Given the description of an element on the screen output the (x, y) to click on. 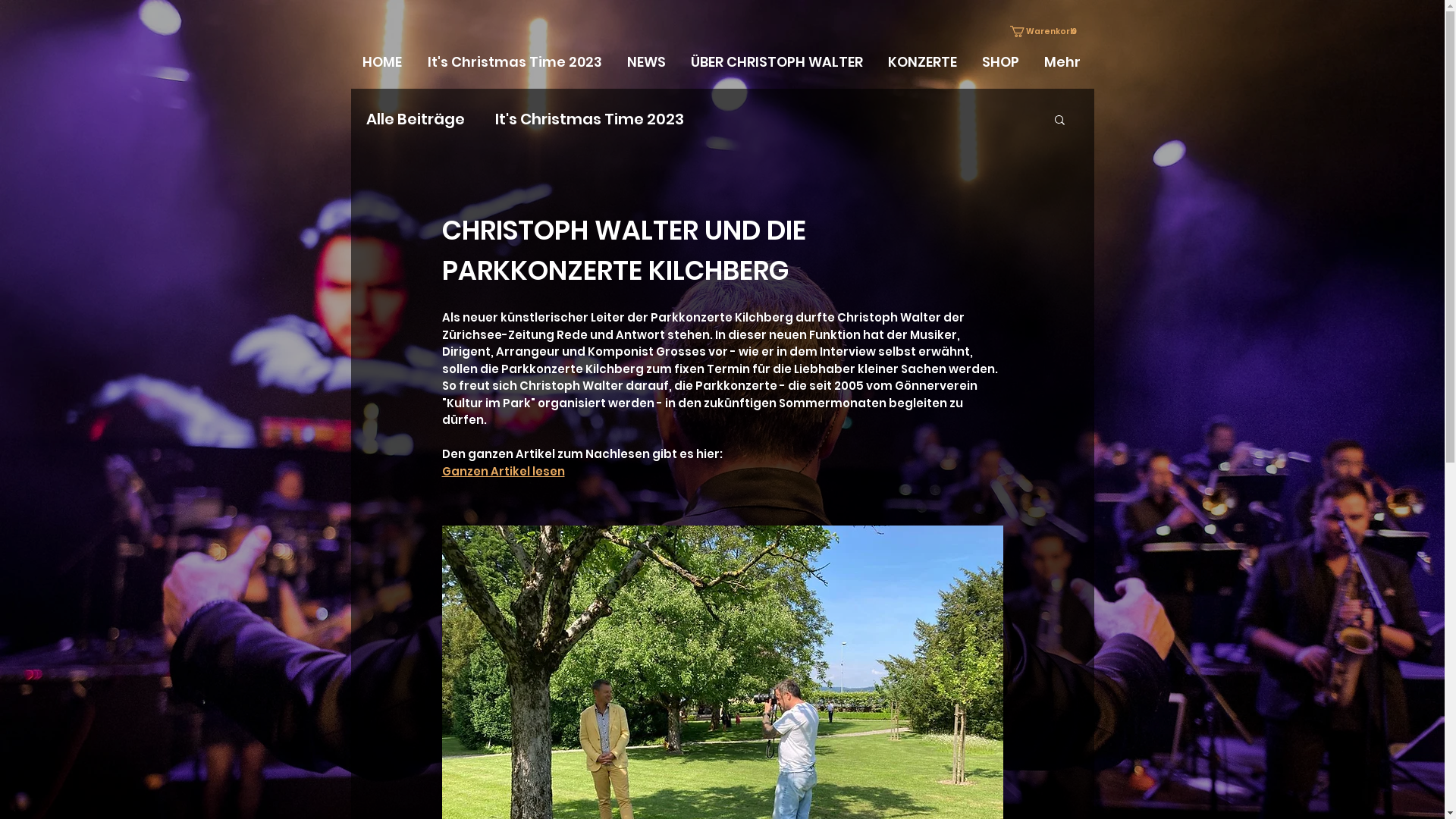
It's Christmas Time 2023 Element type: text (515, 62)
Ganzen Artikel lesen Element type: text (502, 470)
NEWS Element type: text (647, 62)
Warenkorb
0 Element type: text (1045, 31)
HOME Element type: text (382, 62)
It's Christmas Time 2023 Element type: text (588, 118)
SHOP Element type: text (1001, 62)
KONZERTE Element type: text (923, 62)
